Given the description of an element on the screen output the (x, y) to click on. 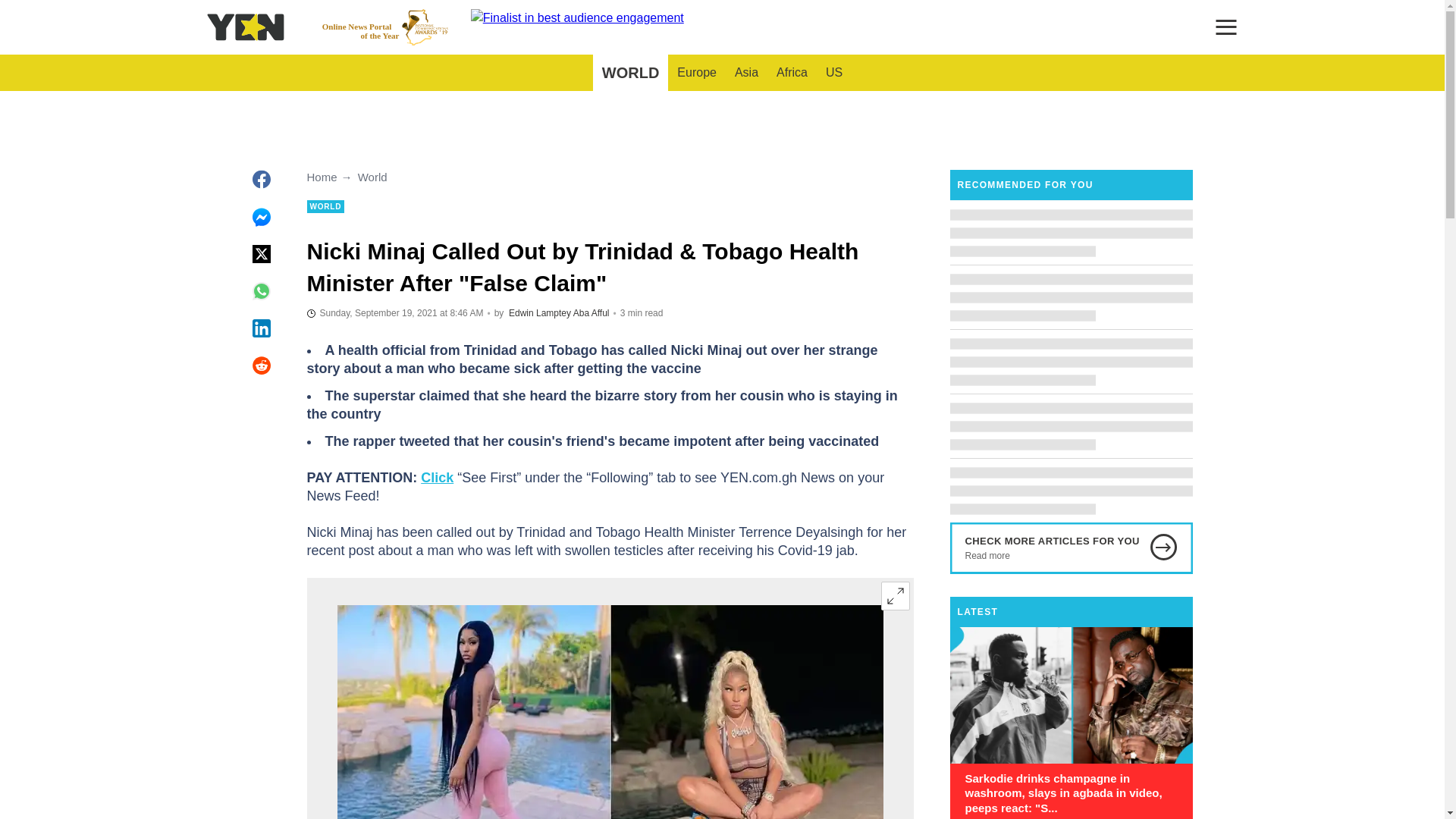
Expand image (895, 595)
Asia (746, 72)
WORLD (630, 72)
Africa (384, 27)
US (791, 72)
Author page (833, 72)
Author page (539, 312)
Europe (591, 312)
2021-09-19T08:46:31Z (696, 72)
